Given the description of an element on the screen output the (x, y) to click on. 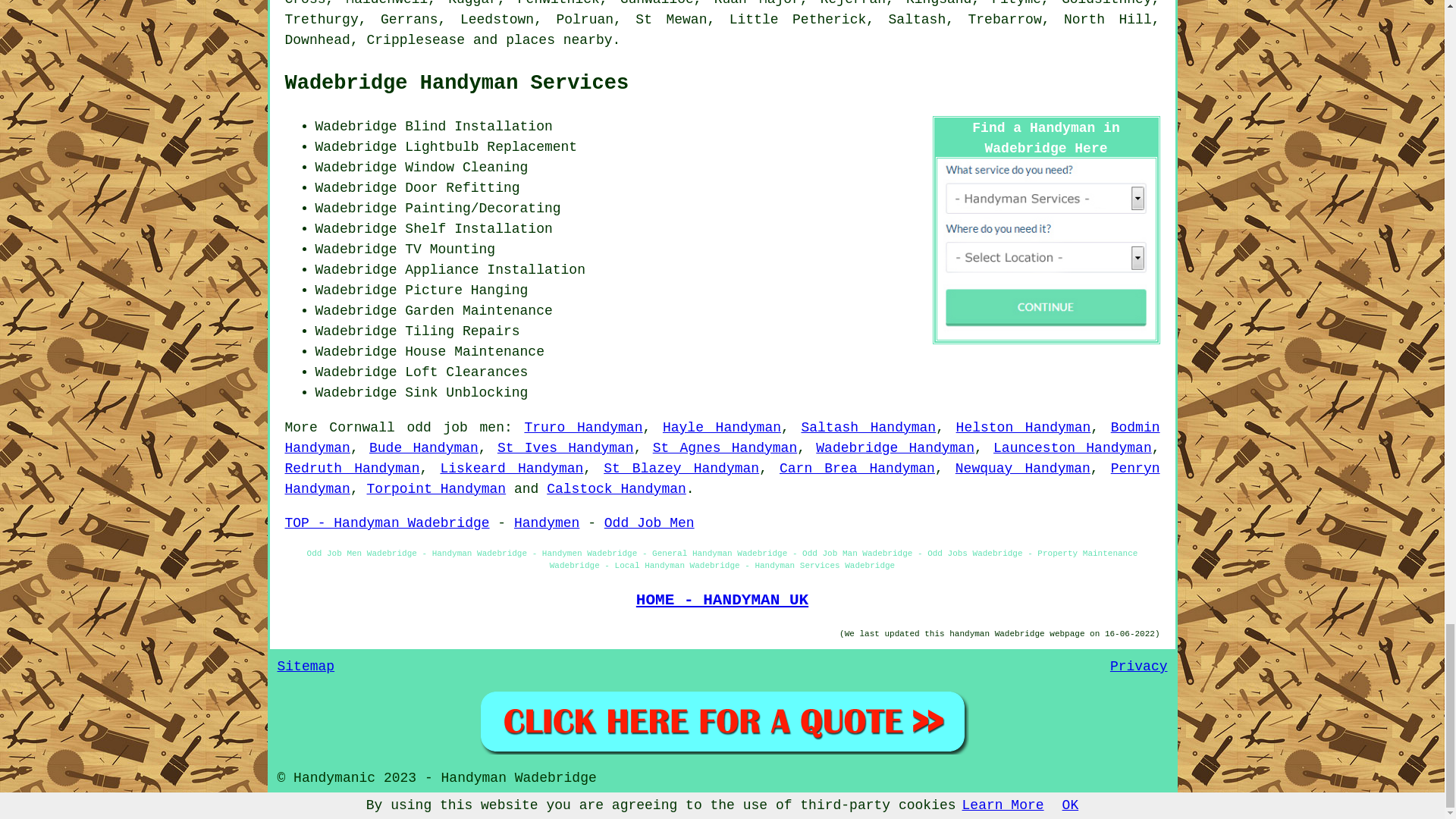
Liskeard Handyman (511, 468)
Bude Handyman (424, 447)
Bodmin Handyman (722, 437)
Truro Handyman (583, 427)
St Agnes Handyman (724, 447)
Penryn Handyman (722, 478)
Wadebridge Handyman (894, 447)
Redruth Handyman (352, 468)
Carn Brea Handyman (856, 468)
Helston Handyman (1023, 427)
